Given the description of an element on the screen output the (x, y) to click on. 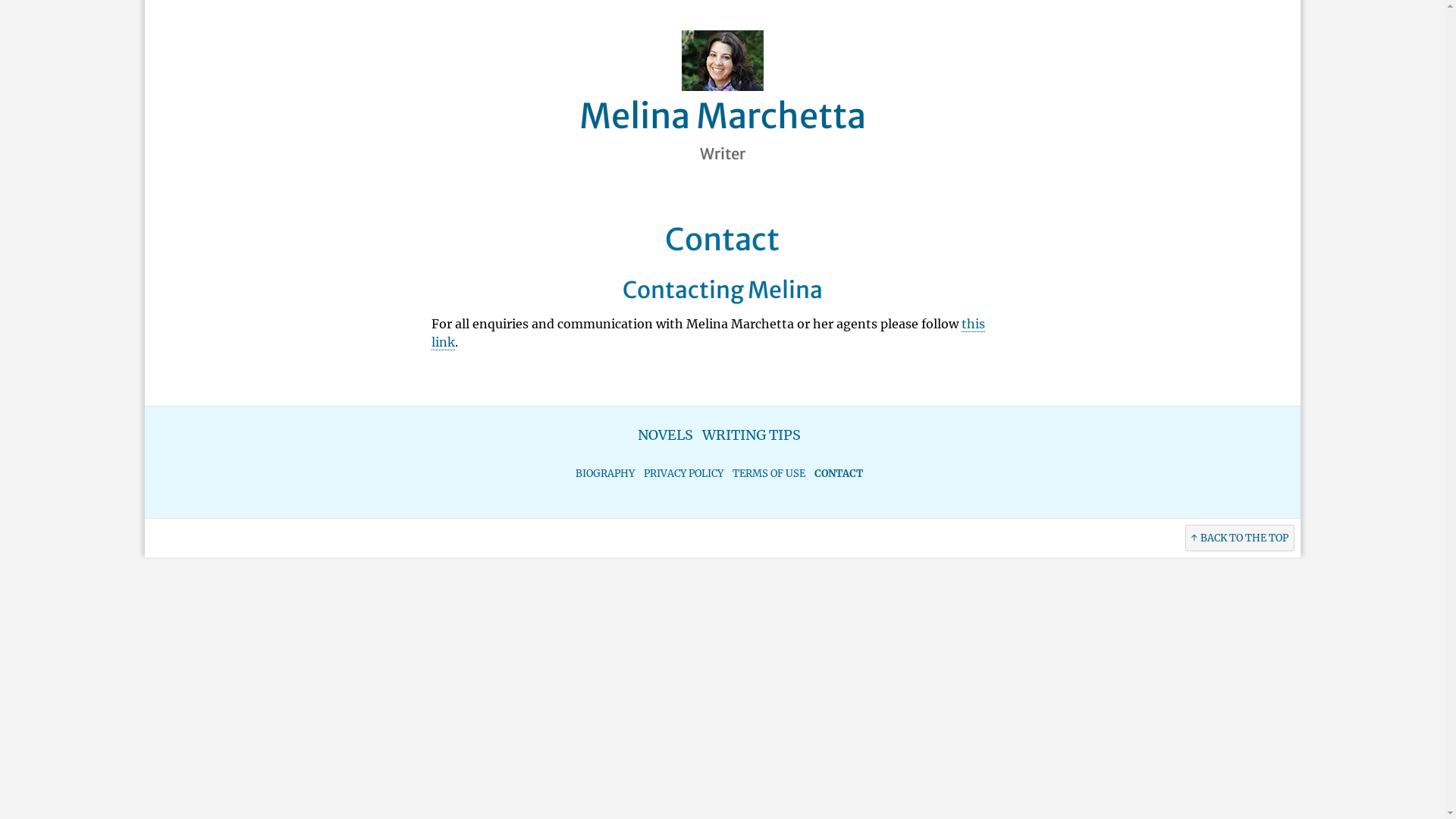
PRIVACY POLICY Element type: text (683, 473)
Melina Marchetta Element type: text (722, 115)
this link Element type: text (707, 333)
CONTACT Element type: text (838, 473)
TERMS OF USE Element type: text (768, 473)
NOVELS Element type: text (665, 434)
WRITING TIPS Element type: text (751, 434)
BIOGRAPHY Element type: text (604, 473)
